Given the description of an element on the screen output the (x, y) to click on. 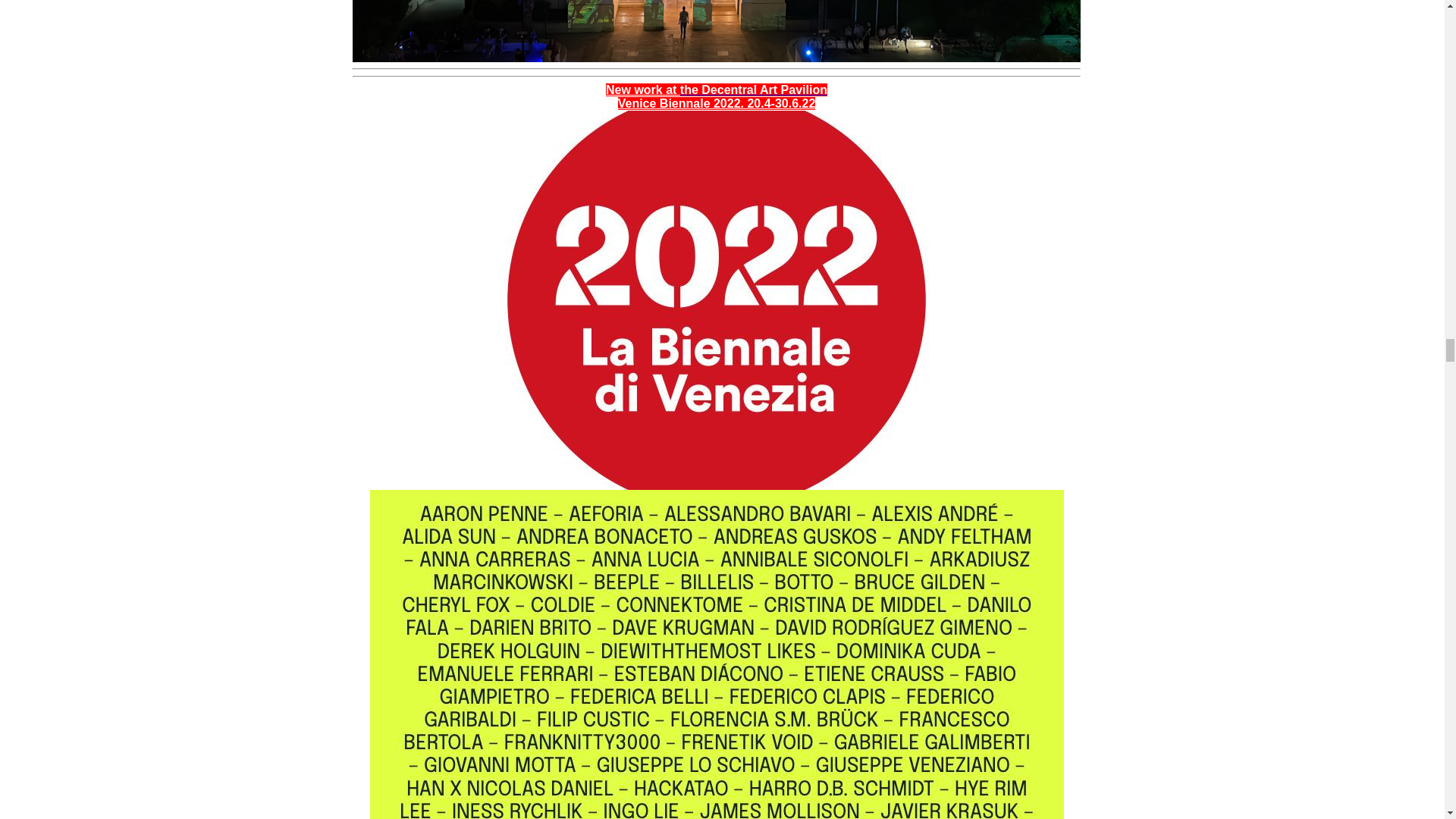
Venice Biennale 2022. 20.4-30.6.22 (716, 103)
the Decentral Art Pavilion (753, 89)
New work at (642, 89)
